Given the description of an element on the screen output the (x, y) to click on. 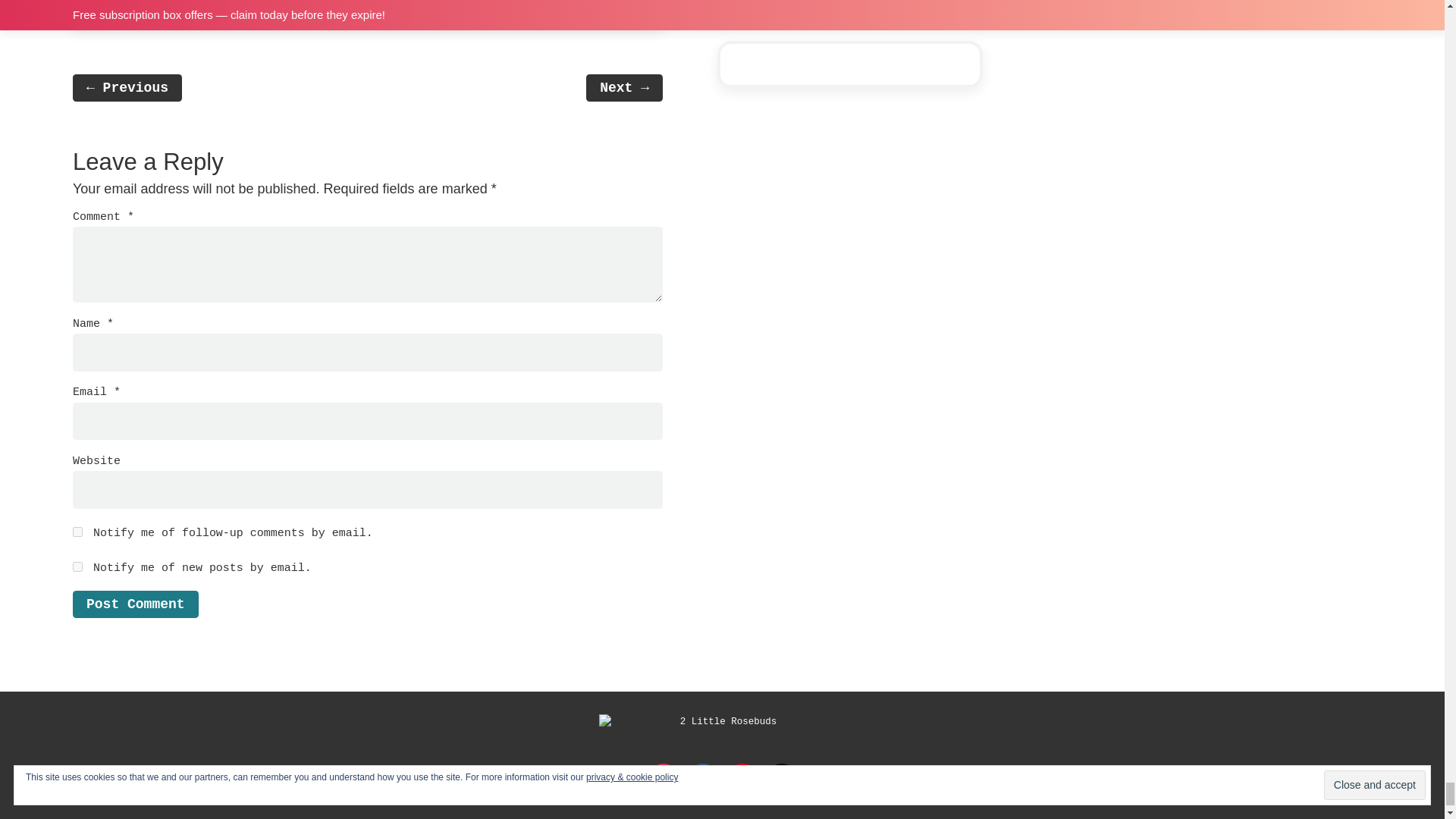
Post Comment (135, 604)
subscribe (77, 532)
subscribe (77, 566)
